Given the description of an element on the screen output the (x, y) to click on. 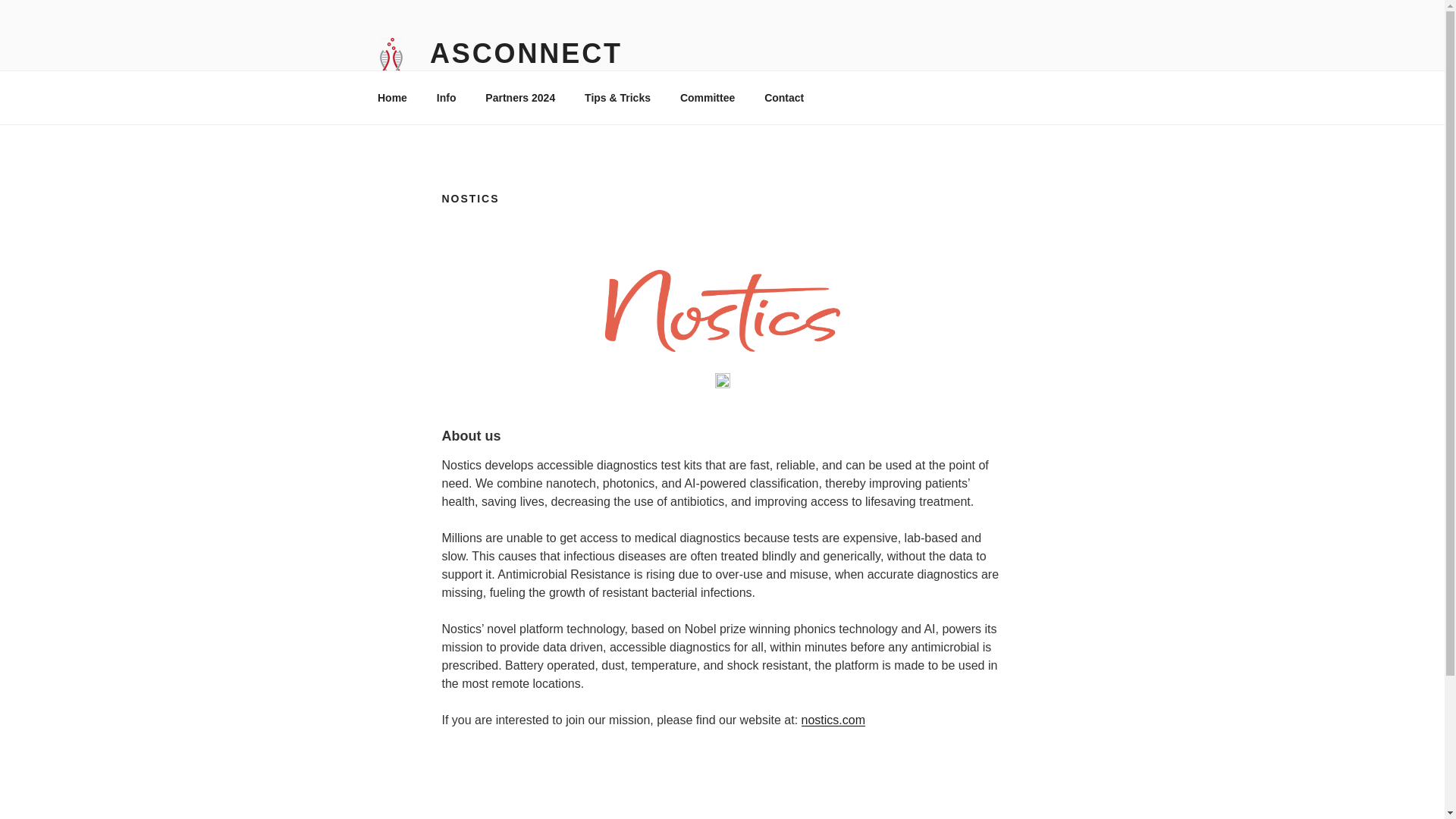
Info (445, 97)
Partners 2024 (520, 97)
ASCONNECT (526, 52)
Committee (707, 97)
Contact (783, 97)
Home (392, 97)
nostics.com (833, 719)
